Given the description of an element on the screen output the (x, y) to click on. 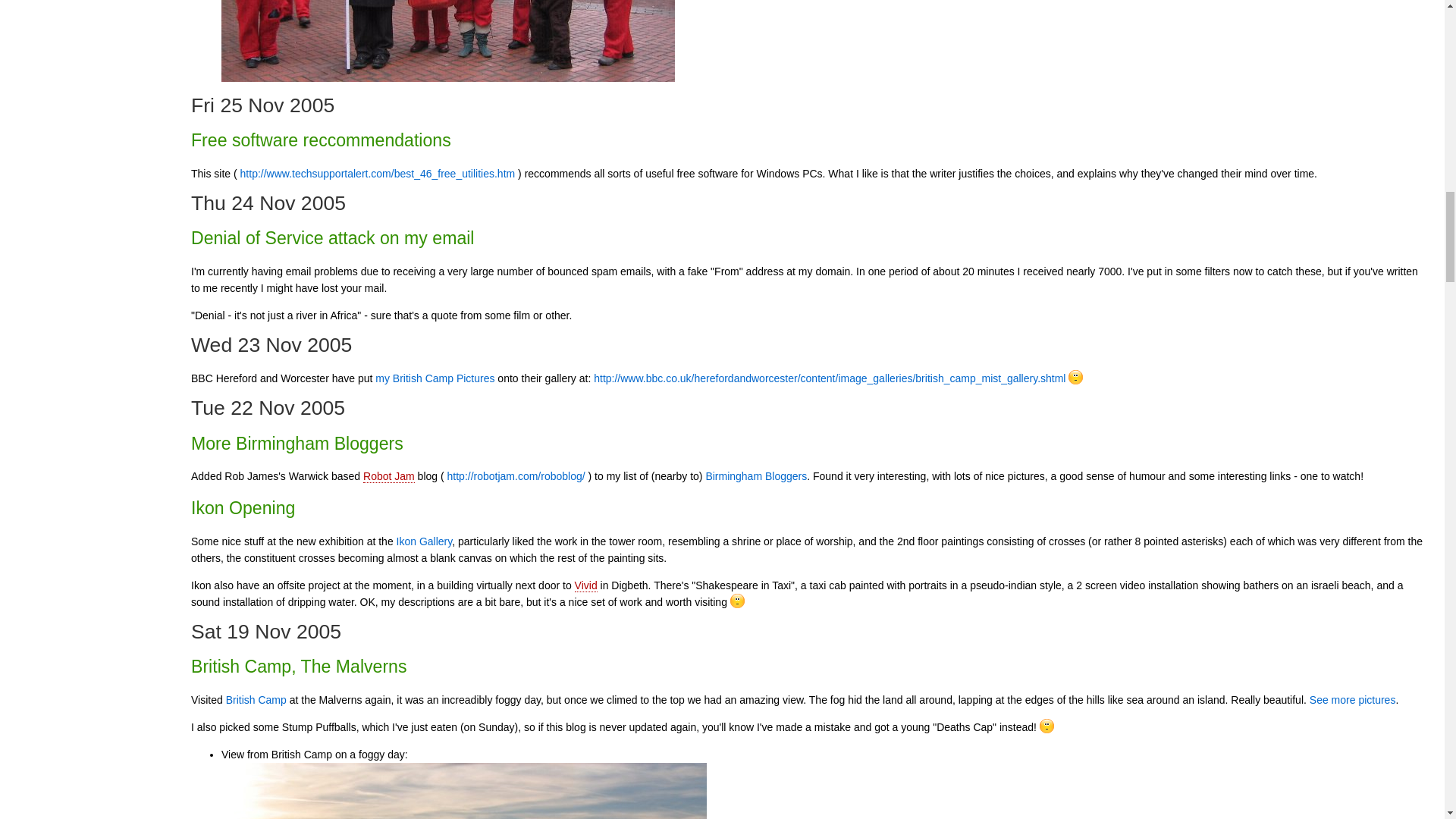
Ikon Gallery (424, 541)
smile (1075, 377)
Birmingham Bloggers (755, 476)
See more pictures (1352, 699)
smile (1046, 726)
Vivid (585, 585)
Robot Jam (388, 476)
Create this topic (388, 476)
smile (737, 600)
my British Camp Pictures (435, 378)
